Given the description of an element on the screen output the (x, y) to click on. 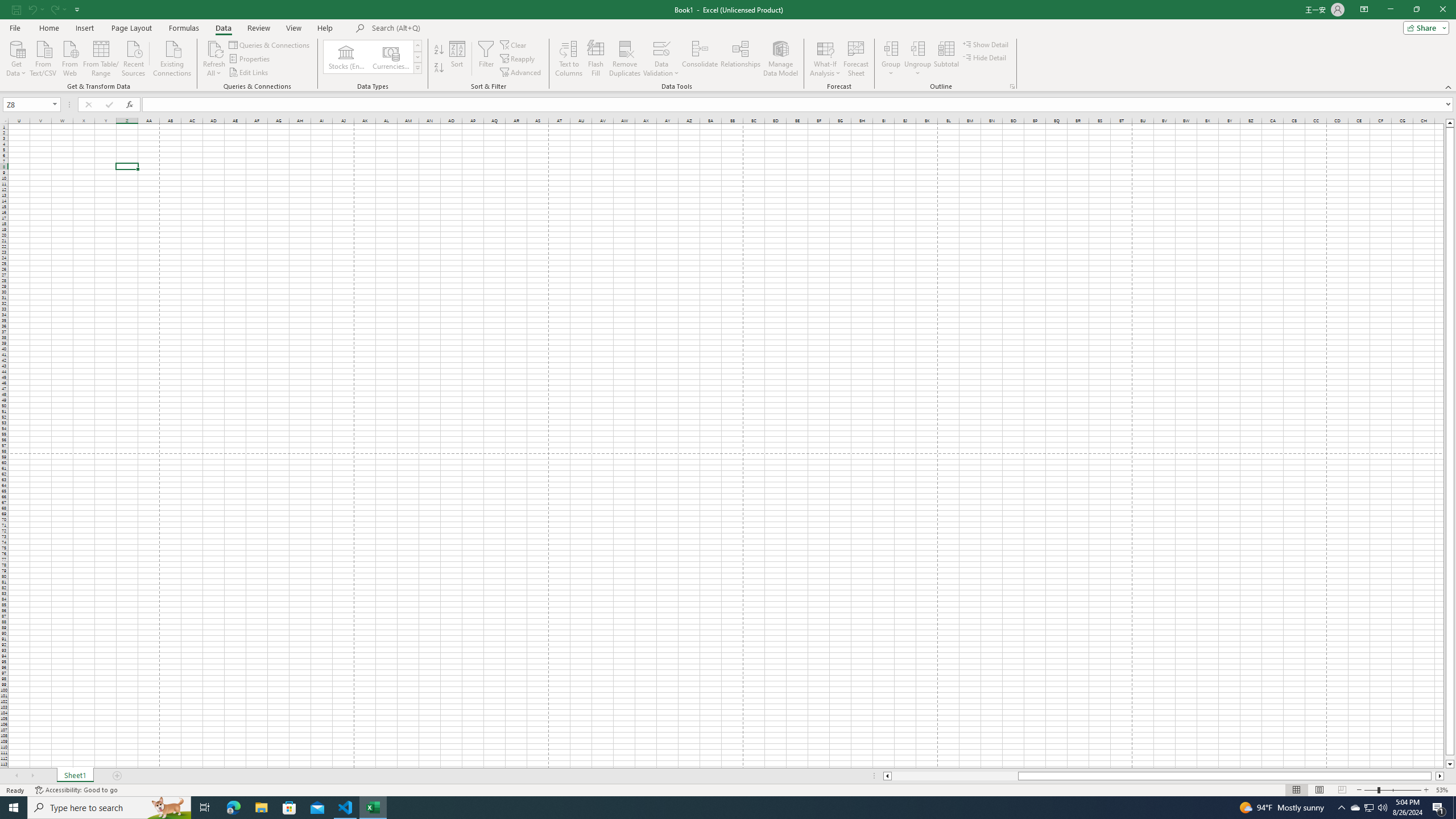
Stocks (English) (346, 56)
Get Data (16, 57)
Sort Z to A (438, 67)
Class: NetUIImage (418, 68)
Existing Connections (171, 57)
